Given the description of an element on the screen output the (x, y) to click on. 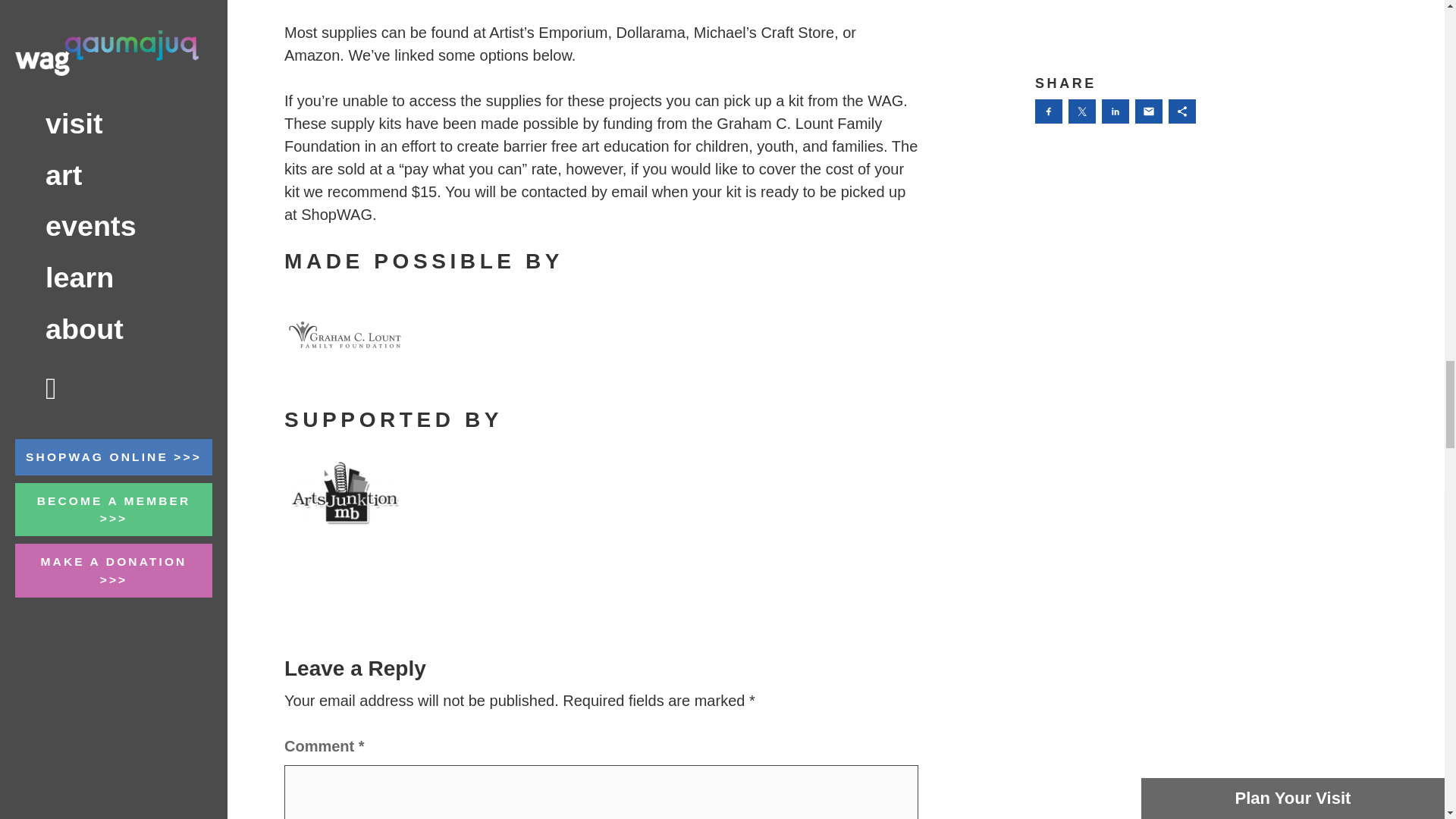
Graham C. Lount Family Foundation (344, 335)
ArtsJunktion (344, 492)
